Given the description of an element on the screen output the (x, y) to click on. 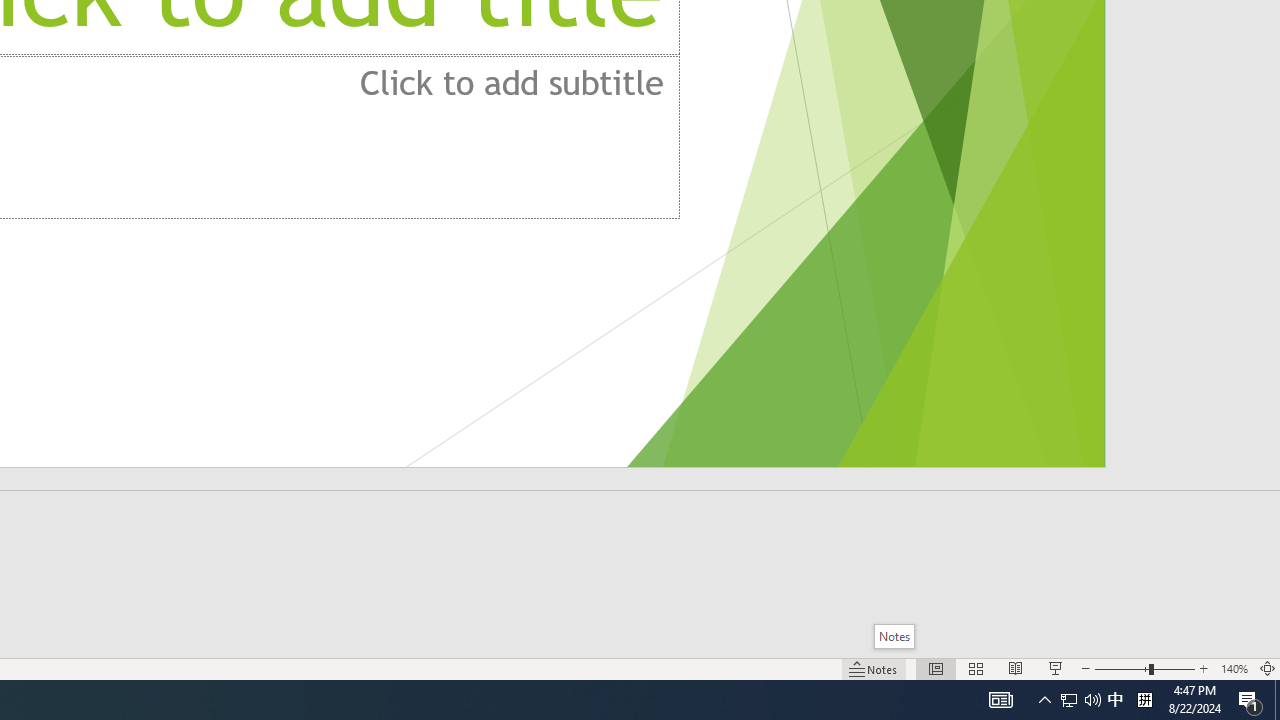
Notes (894, 636)
Zoom 140% (1234, 668)
